Given the description of an element on the screen output the (x, y) to click on. 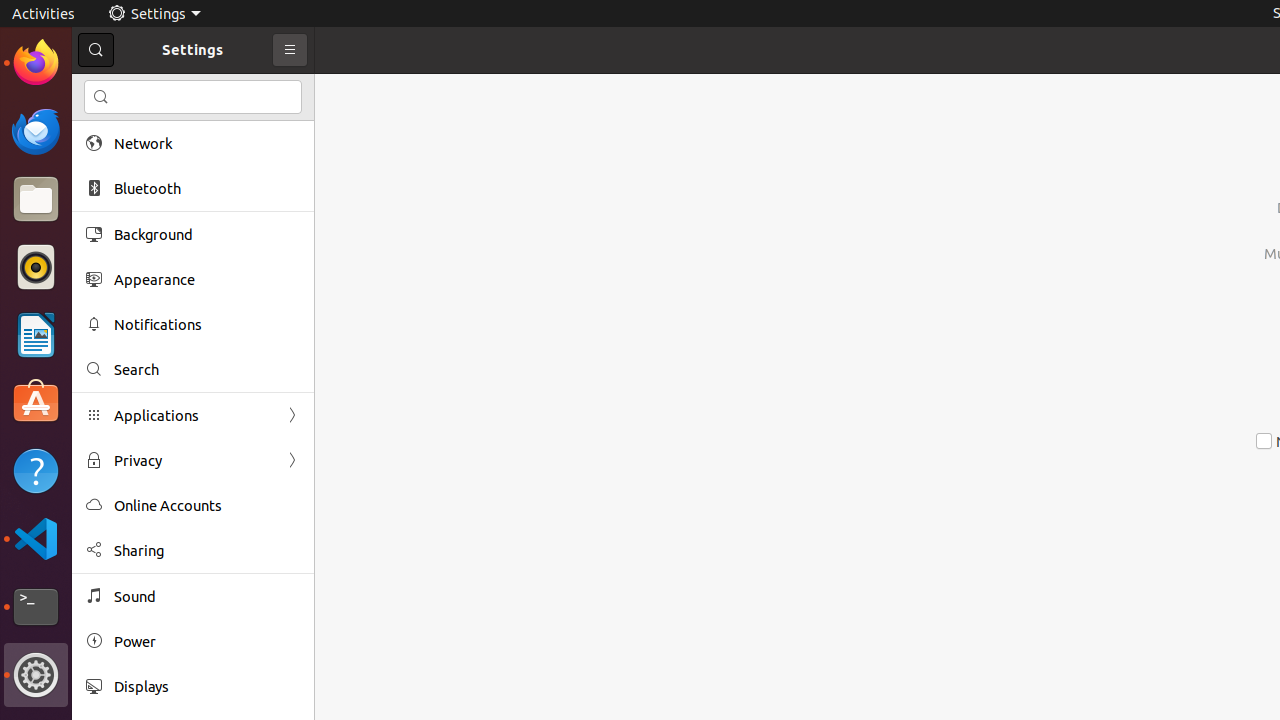
Displays Element type: label (207, 686)
Trash Element type: label (133, 191)
Firefox Web Browser Element type: push-button (36, 63)
li.txt Element type: label (259, 89)
Appearance Element type: label (207, 279)
